Given the description of an element on the screen output the (x, y) to click on. 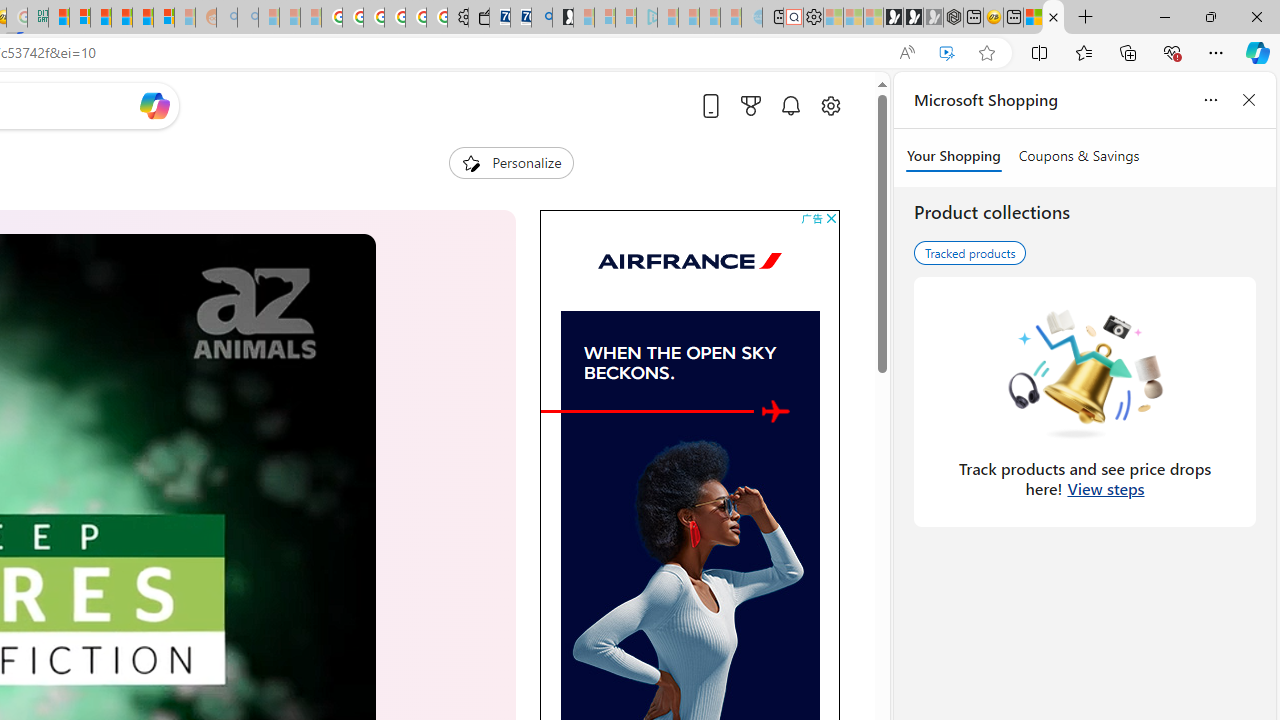
Bing Real Estate - Home sales and rental listings (541, 17)
